Given the description of an element on the screen output the (x, y) to click on. 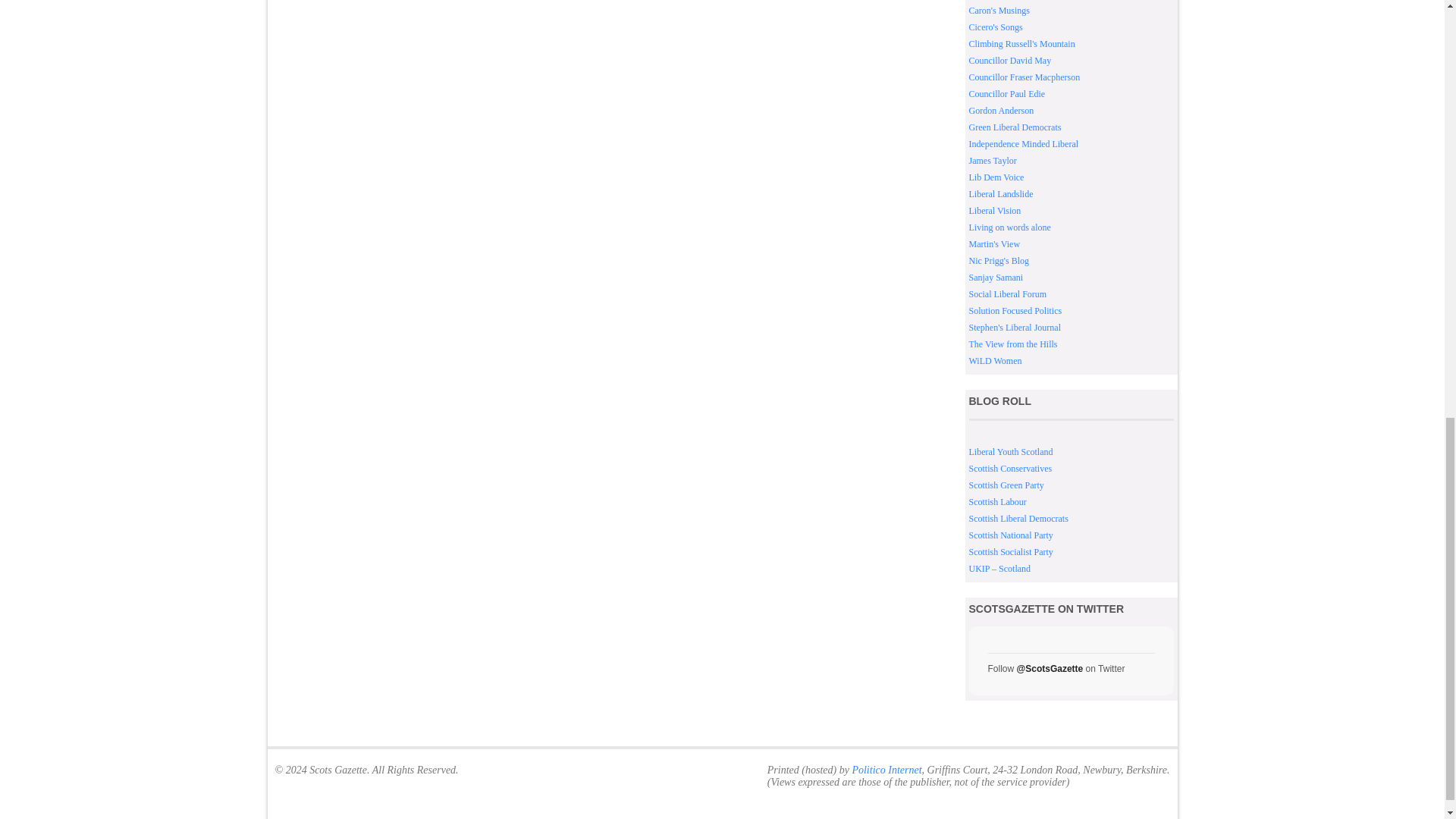
Councillor Fraser Macpherson (1024, 77)
Caron's Musings (999, 9)
Gordon Anderson (1001, 110)
Climbing Russell's Mountain (1022, 43)
Councillor David May (1010, 60)
Councillor Paul Edie (1007, 93)
Cicero's Songs (996, 27)
